Given the description of an element on the screen output the (x, y) to click on. 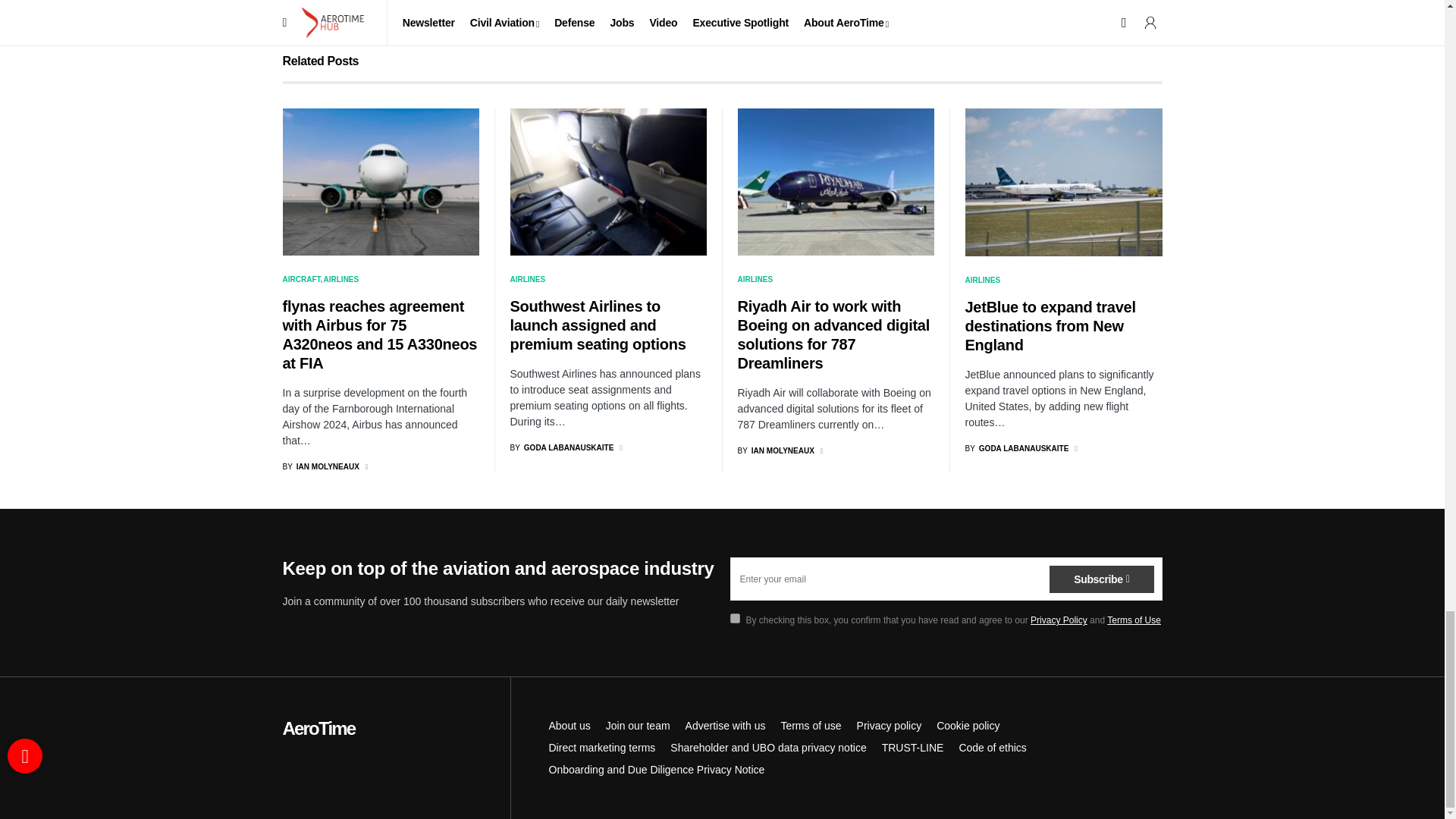
View all posts by Goda Labanauskaite (1015, 448)
View all posts by Goda Labanauskaite (560, 447)
View all posts by Ian Molyneaux (320, 466)
on (734, 618)
View all posts by Ian Molyneaux (774, 450)
